Given the description of an element on the screen output the (x, y) to click on. 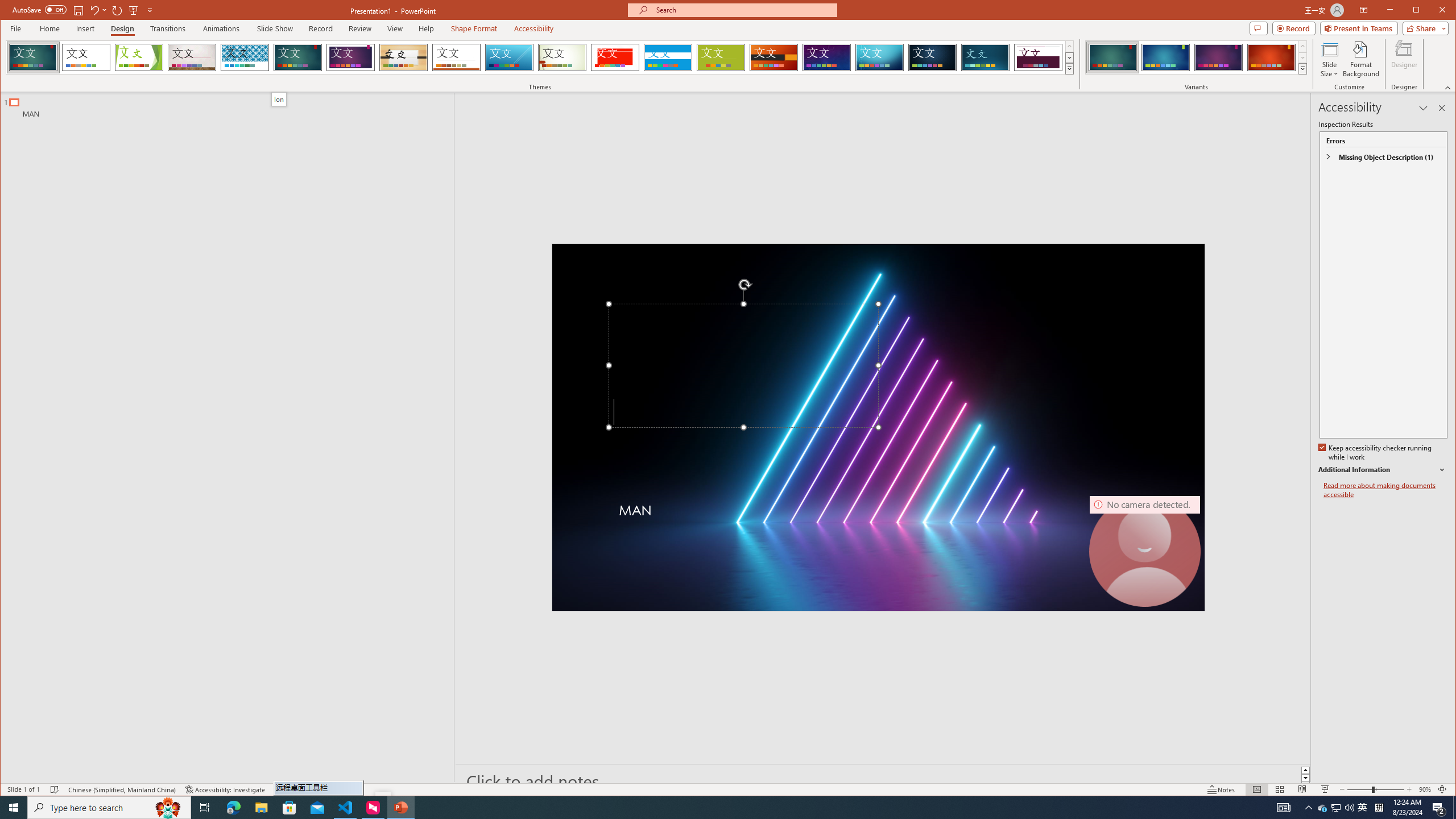
Minimize (1419, 11)
Organic (1362, 807)
Rectangle (403, 57)
Shape Format (221, 436)
Ion Variant 2 (473, 28)
Task Pane Options (1165, 57)
Zoom (1422, 107)
Read more about making documents accessible (1374, 789)
Running applications (1385, 489)
Keep accessibility checker running while I work (700, 807)
Office Theme (1375, 452)
